Given the description of an element on the screen output the (x, y) to click on. 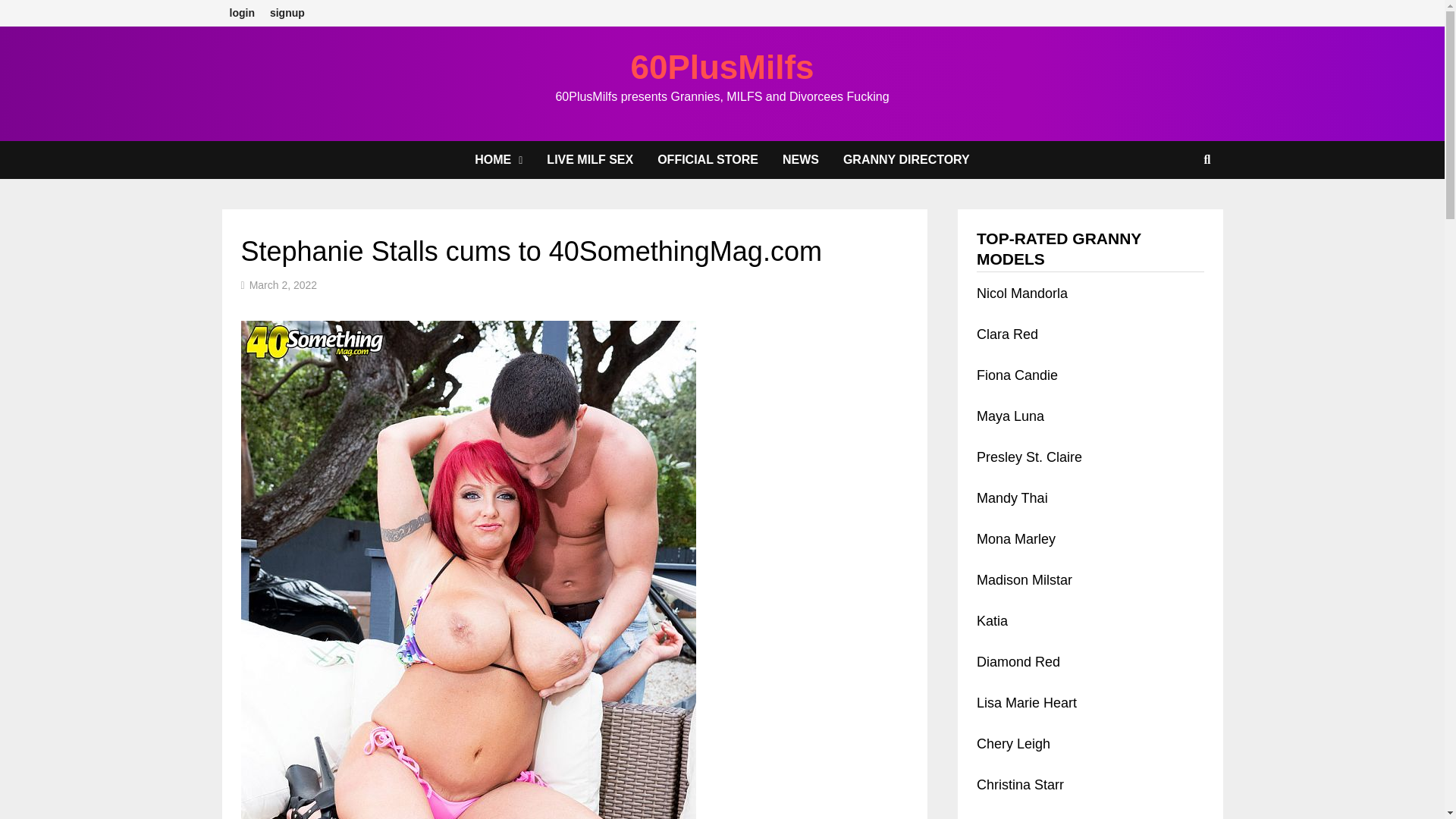
NEWS (800, 159)
60PlusMilfs (721, 66)
login (241, 13)
OFFICIAL STORE (707, 159)
GRANNY DIRECTORY (906, 159)
LIVE MILF SEX (589, 159)
signup (287, 13)
HOME (498, 159)
March 2, 2022 (282, 285)
